Given the description of an element on the screen output the (x, y) to click on. 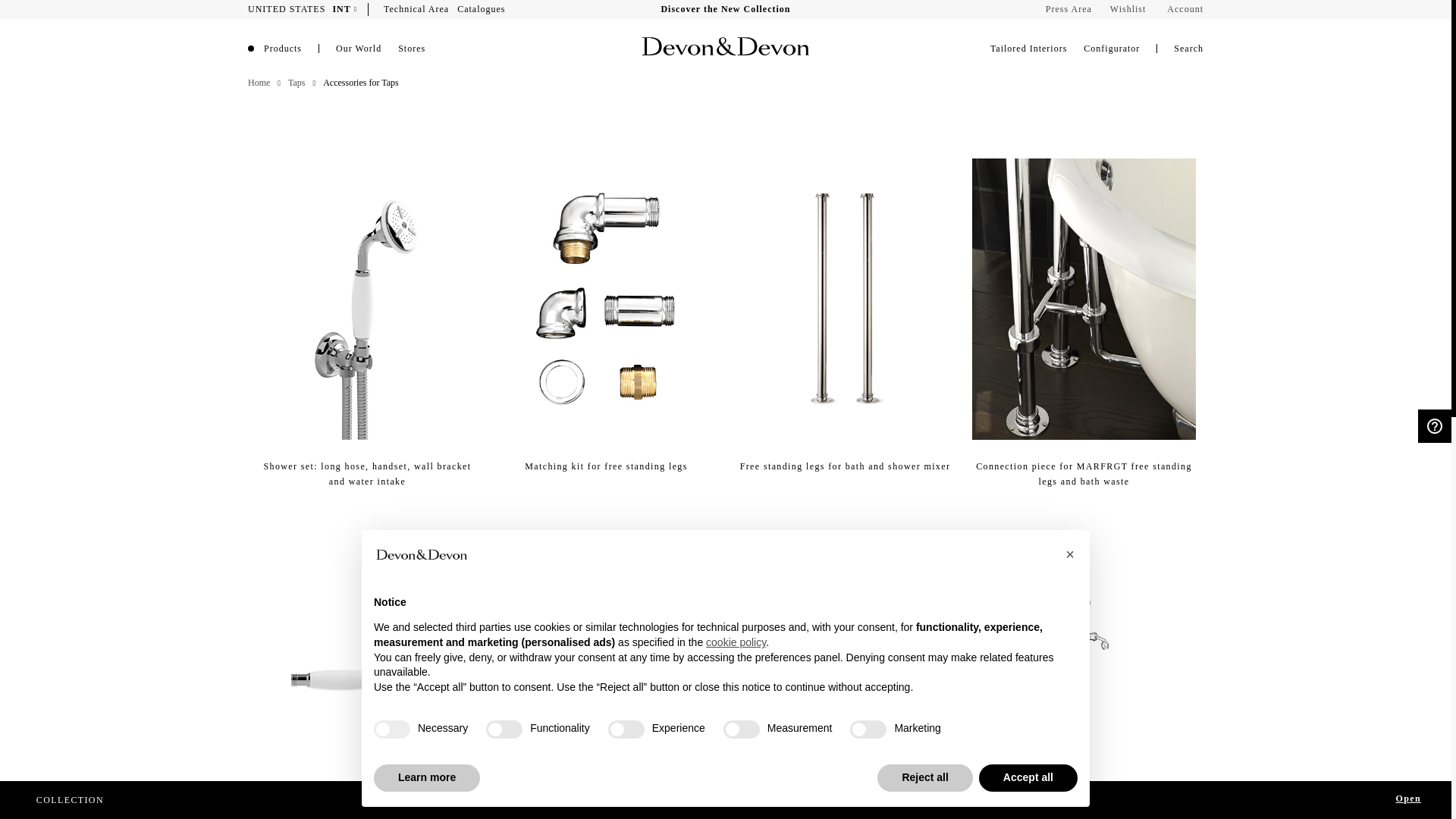
Go to Home Page (258, 81)
Press Area (1068, 9)
false (868, 729)
Account (1185, 9)
false (504, 729)
UNITED STATES (288, 9)
Technical Area (416, 9)
Catalogues (481, 9)
Wishlist (1128, 9)
false (741, 729)
false (626, 729)
Products (287, 48)
true (392, 729)
